Given the description of an element on the screen output the (x, y) to click on. 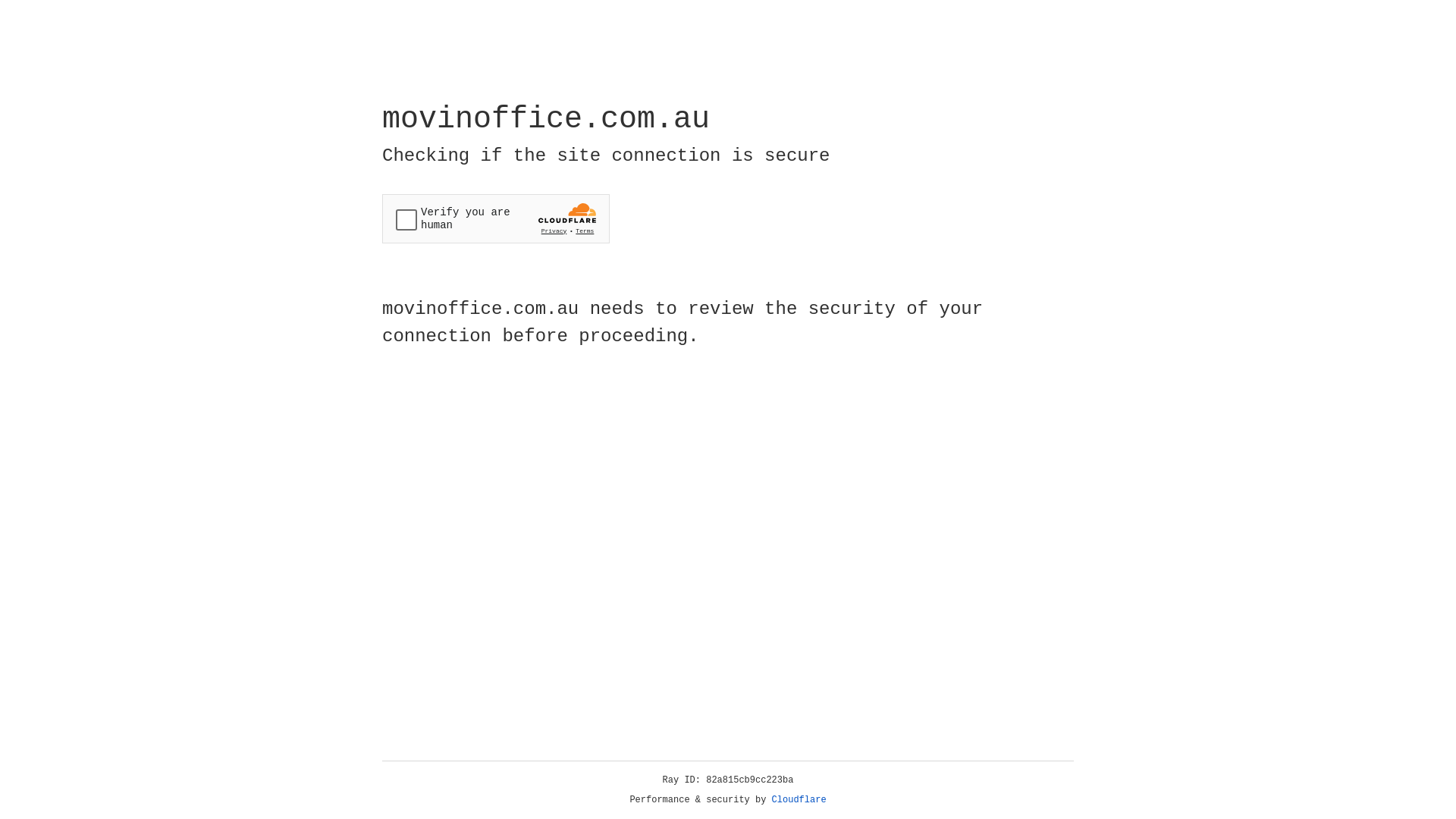
Cloudflare Element type: text (798, 799)
Widget containing a Cloudflare security challenge Element type: hover (495, 218)
